Given the description of an element on the screen output the (x, y) to click on. 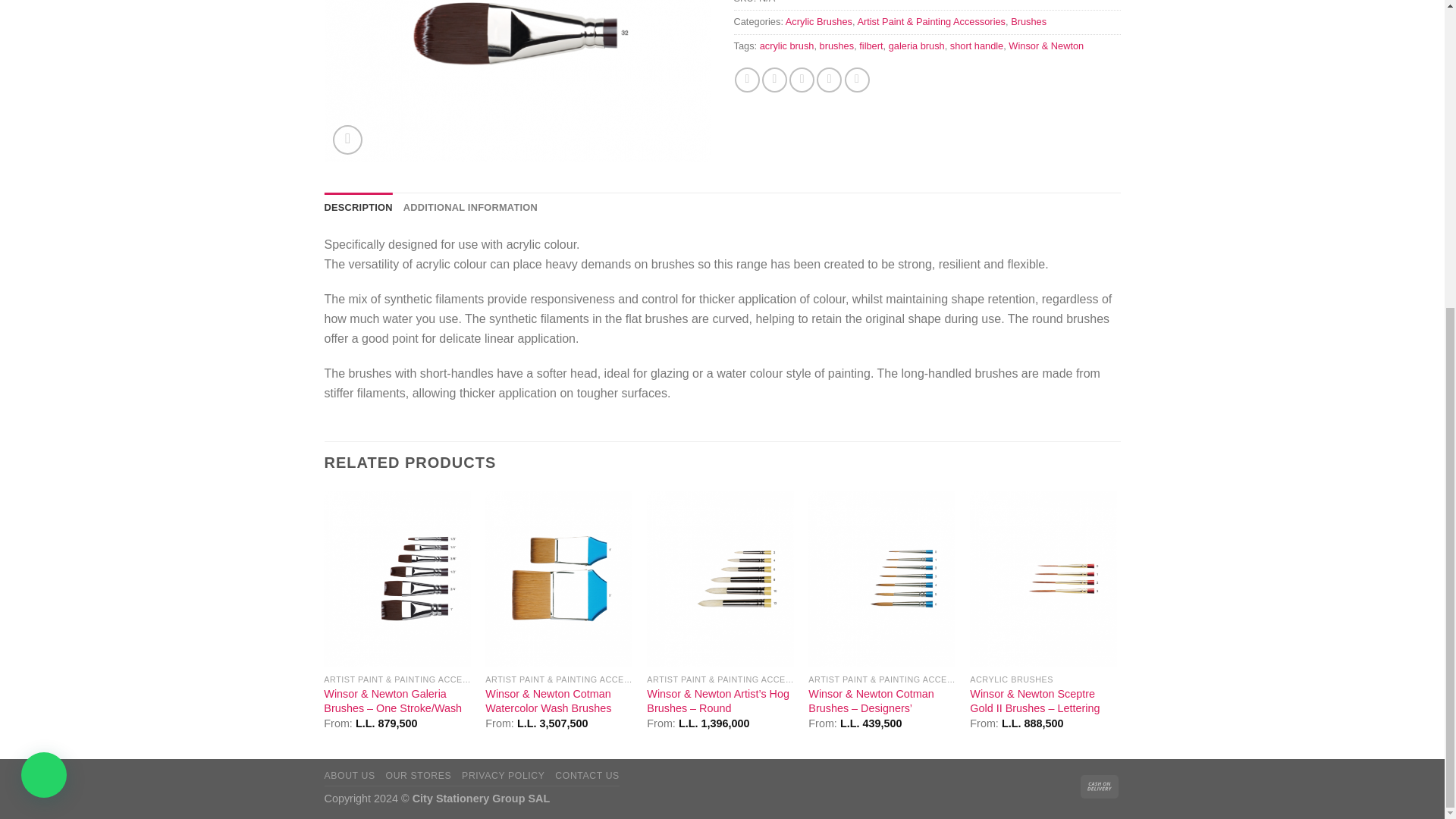
Acrylic Brushes (818, 21)
Share on Twitter (774, 79)
Share on Facebook (747, 79)
Zoom (347, 139)
